Given the description of an element on the screen output the (x, y) to click on. 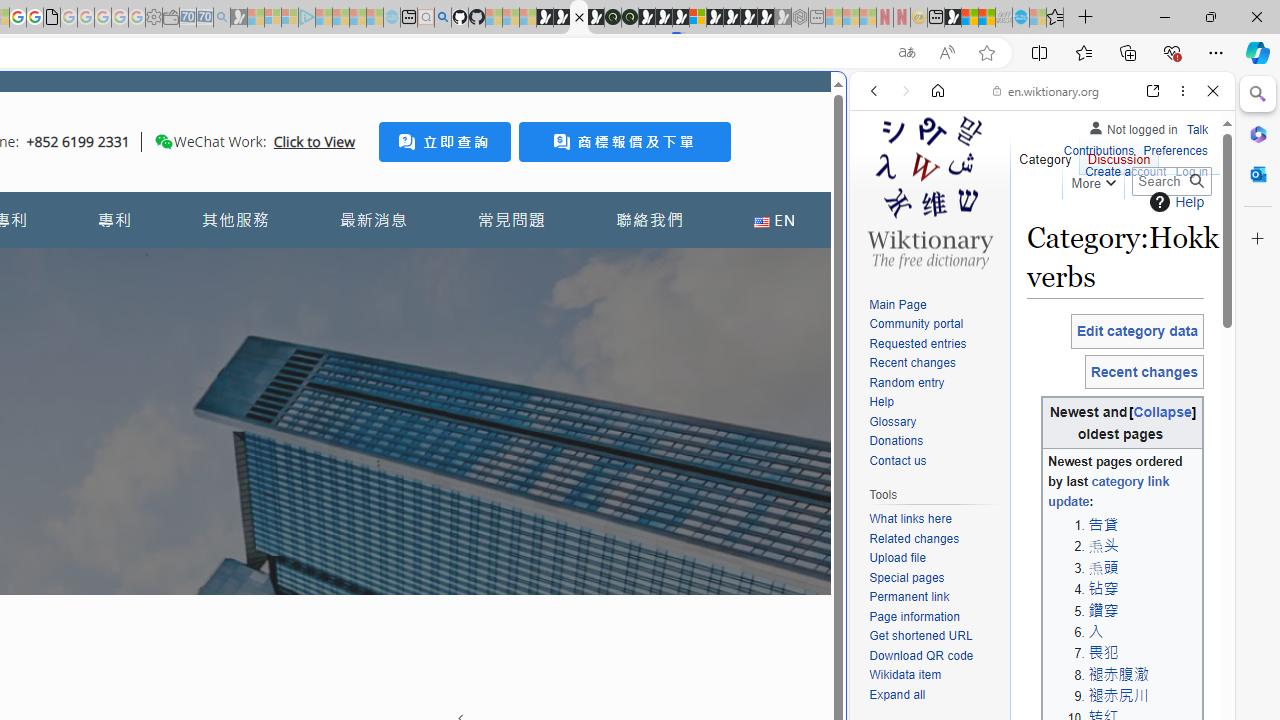
en.wiktionary.org (1046, 90)
Talk (1197, 129)
Donations (896, 441)
Contributions (1098, 148)
Requested entries (917, 343)
Recent changes (912, 362)
Log in (1191, 172)
What links here (910, 519)
